Given the description of an element on the screen output the (x, y) to click on. 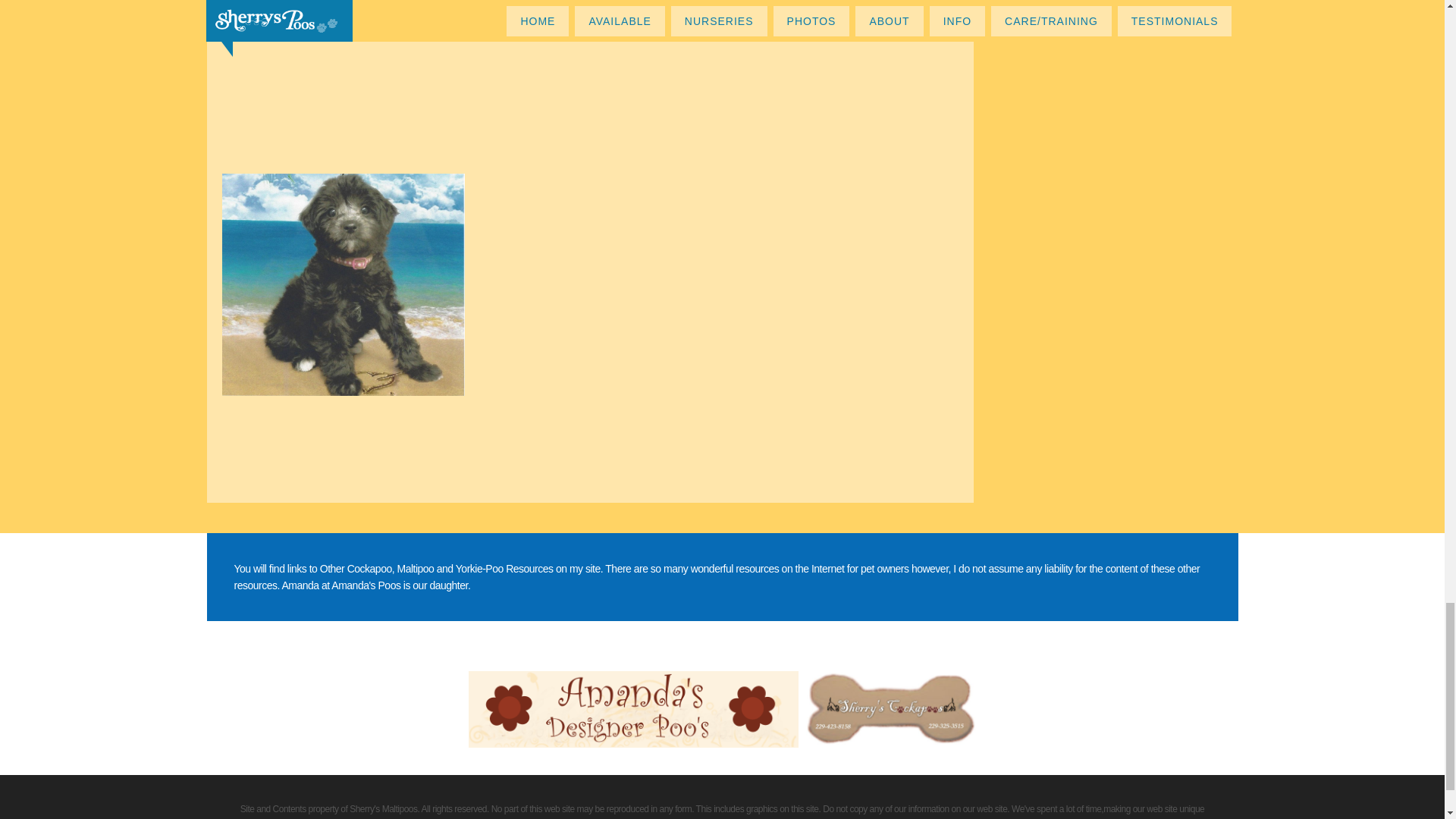
FAQ (342, 284)
Sherrys Cockapoos (890, 707)
Amanda's Designer Poos (637, 707)
